Given the description of an element on the screen output the (x, y) to click on. 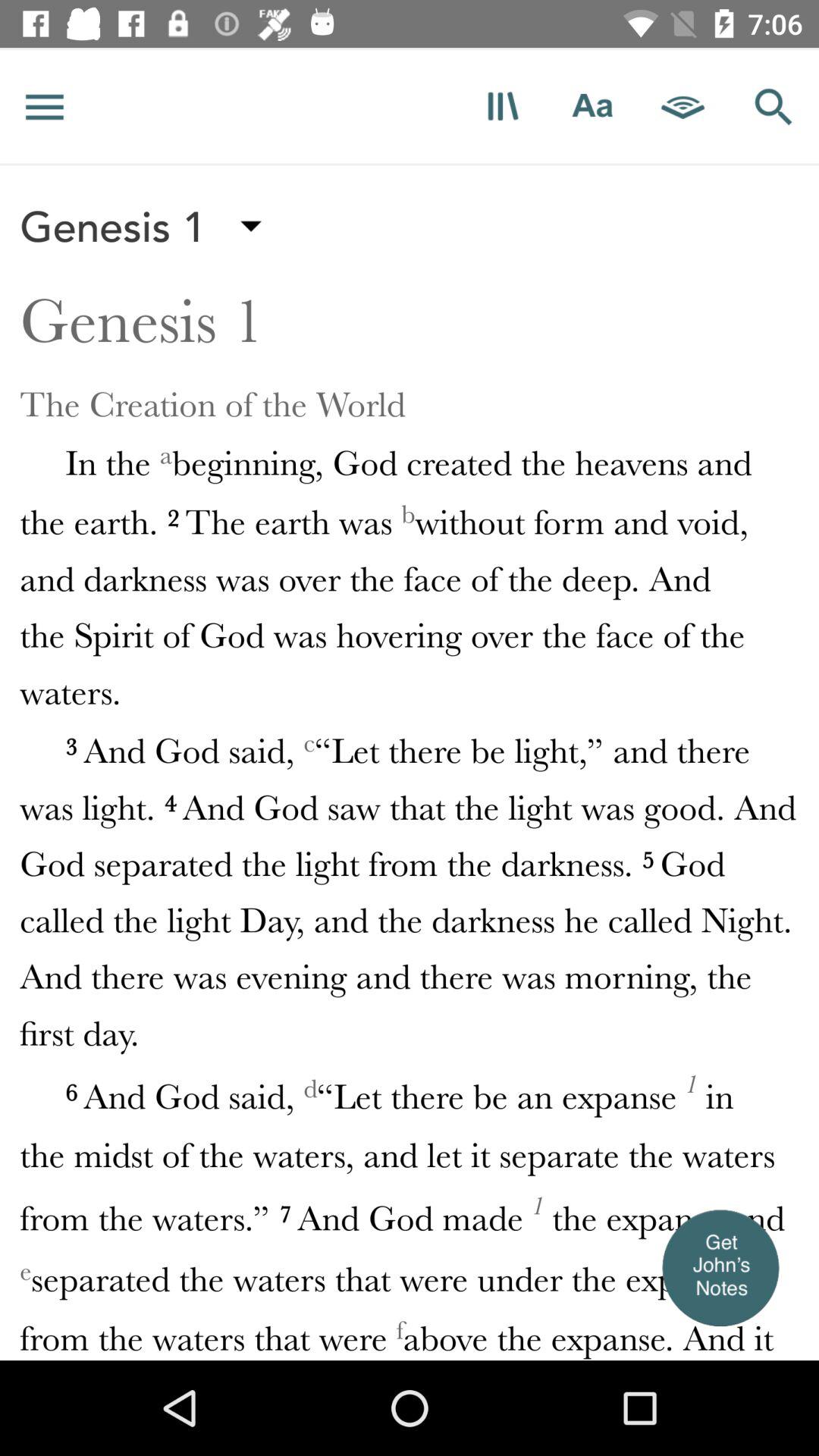
the study bible (502, 106)
